Given the description of an element on the screen output the (x, y) to click on. 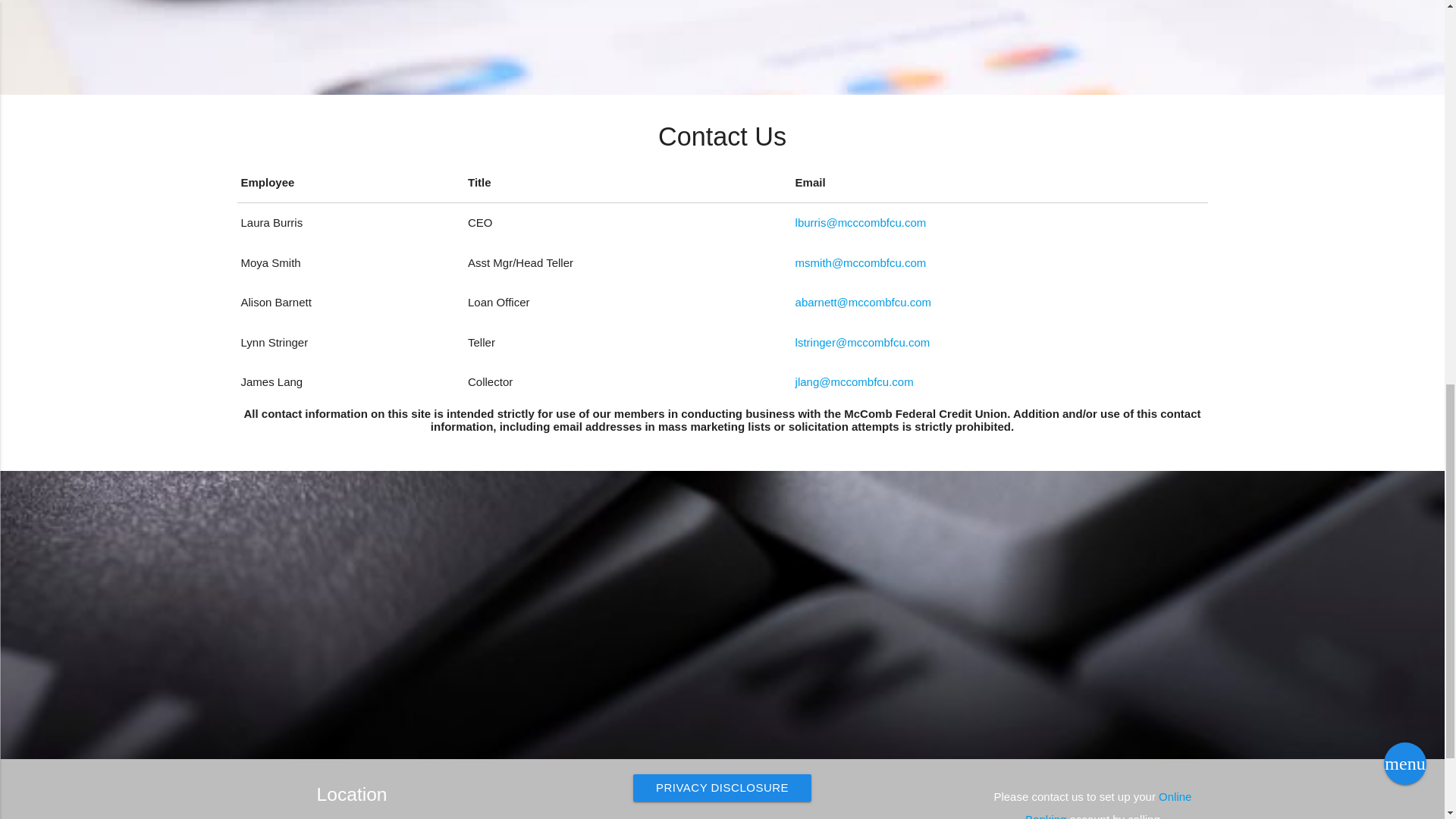
PRIVACY DISCLOSURE (721, 787)
Online Banking (1108, 804)
